Given the description of an element on the screen output the (x, y) to click on. 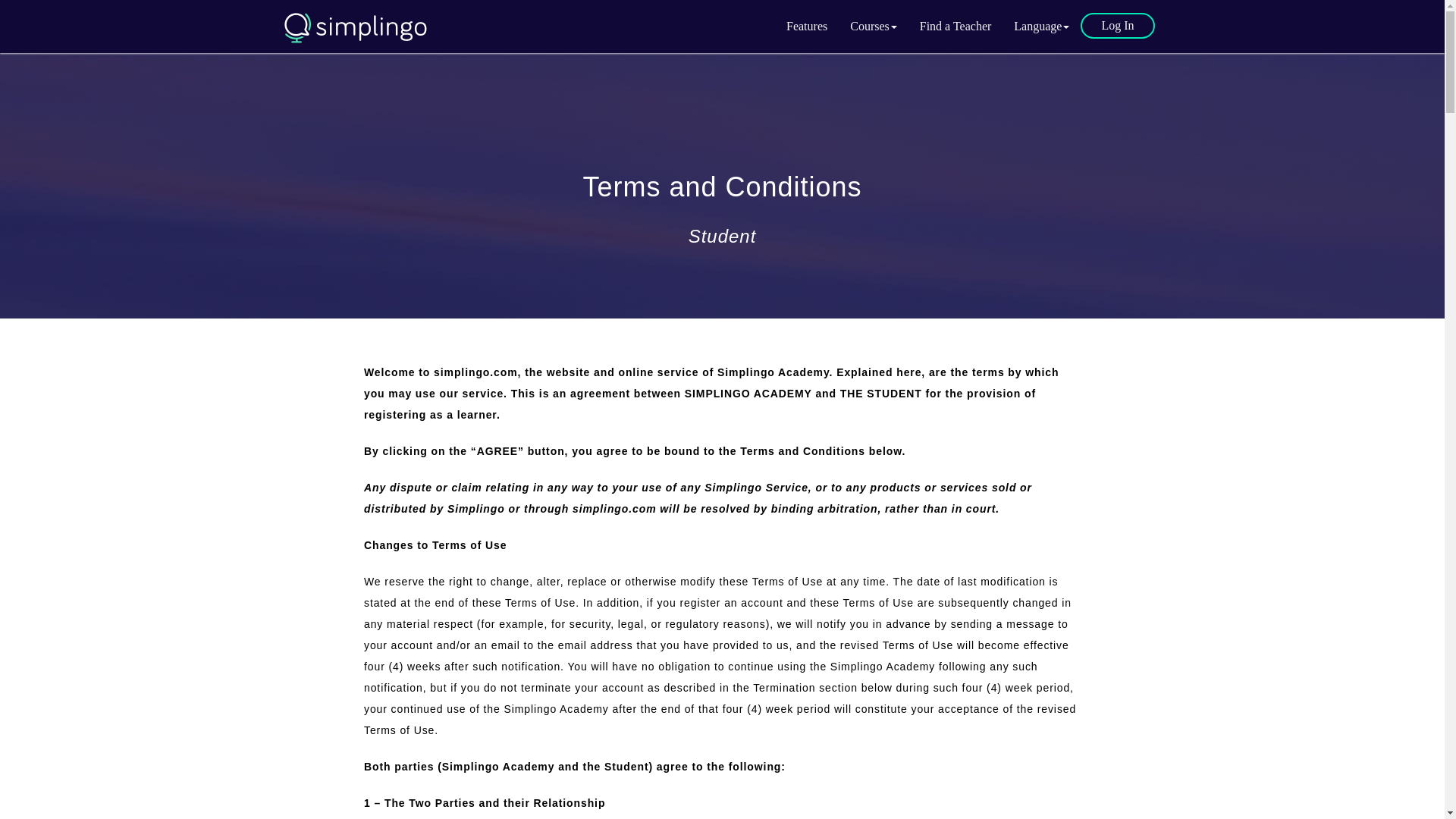
Courses (873, 26)
Language (1041, 26)
Features (806, 26)
Find a Teacher (955, 26)
Log In (1117, 25)
